Given the description of an element on the screen output the (x, y) to click on. 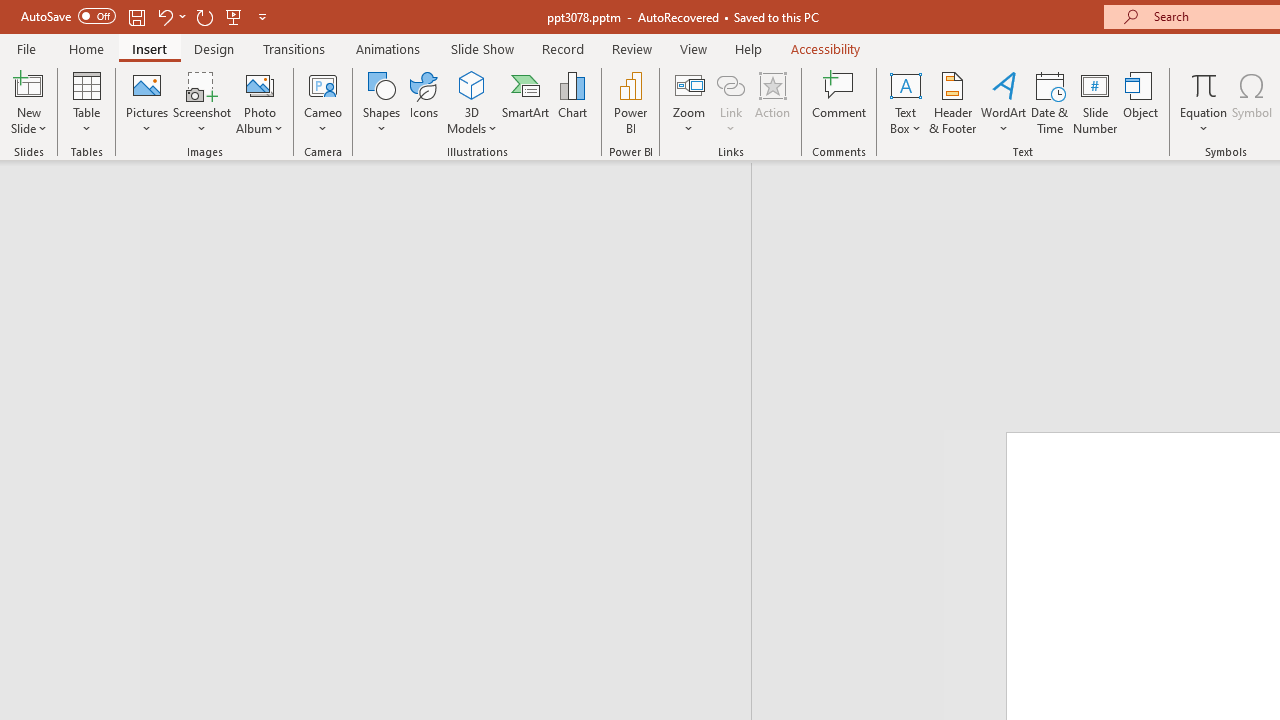
3D Models (472, 84)
Object... (1141, 102)
Table (86, 102)
New Photo Album... (259, 84)
Chart... (572, 102)
